Given the description of an element on the screen output the (x, y) to click on. 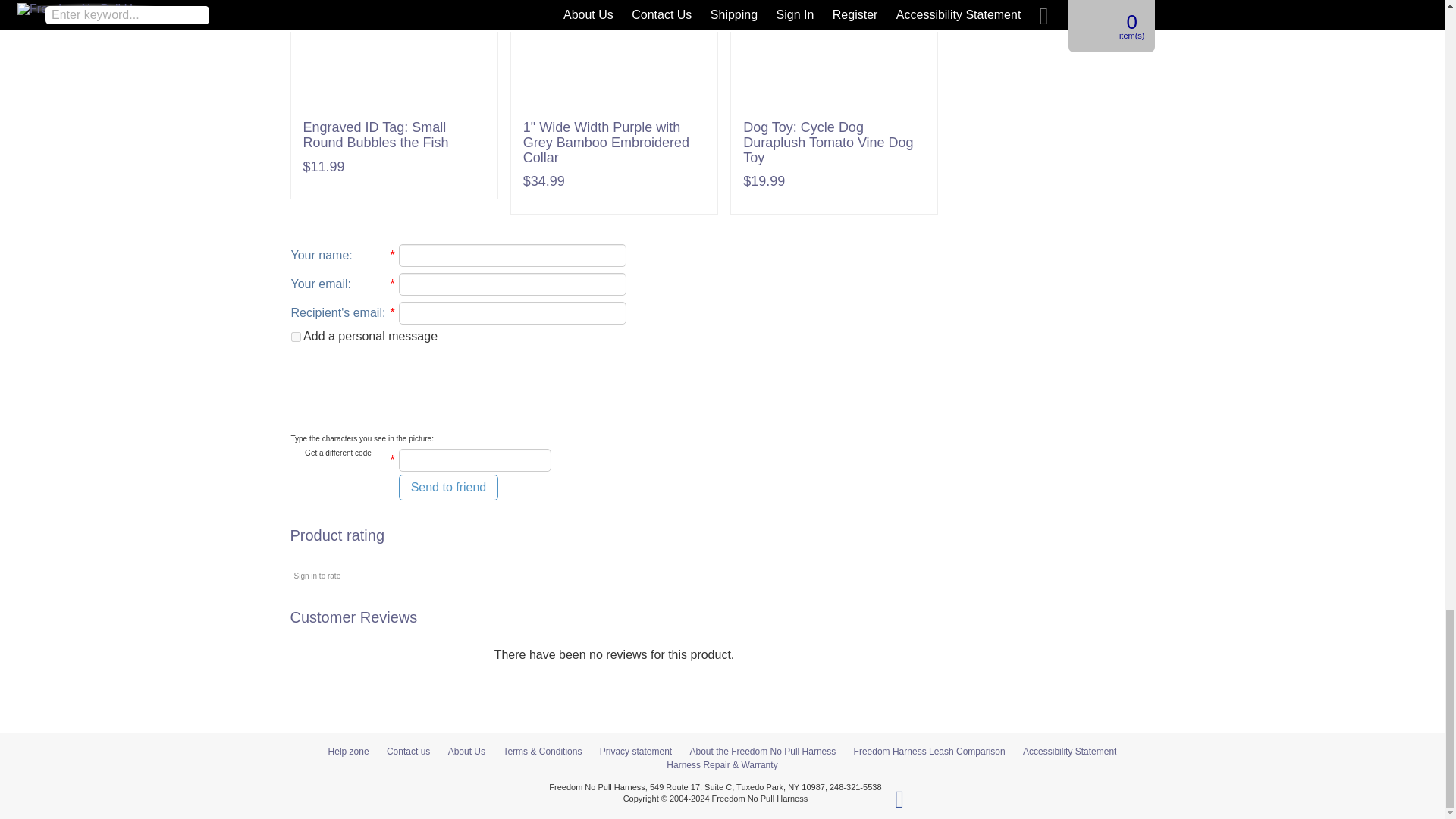
Y (296, 337)
